Given the description of an element on the screen output the (x, y) to click on. 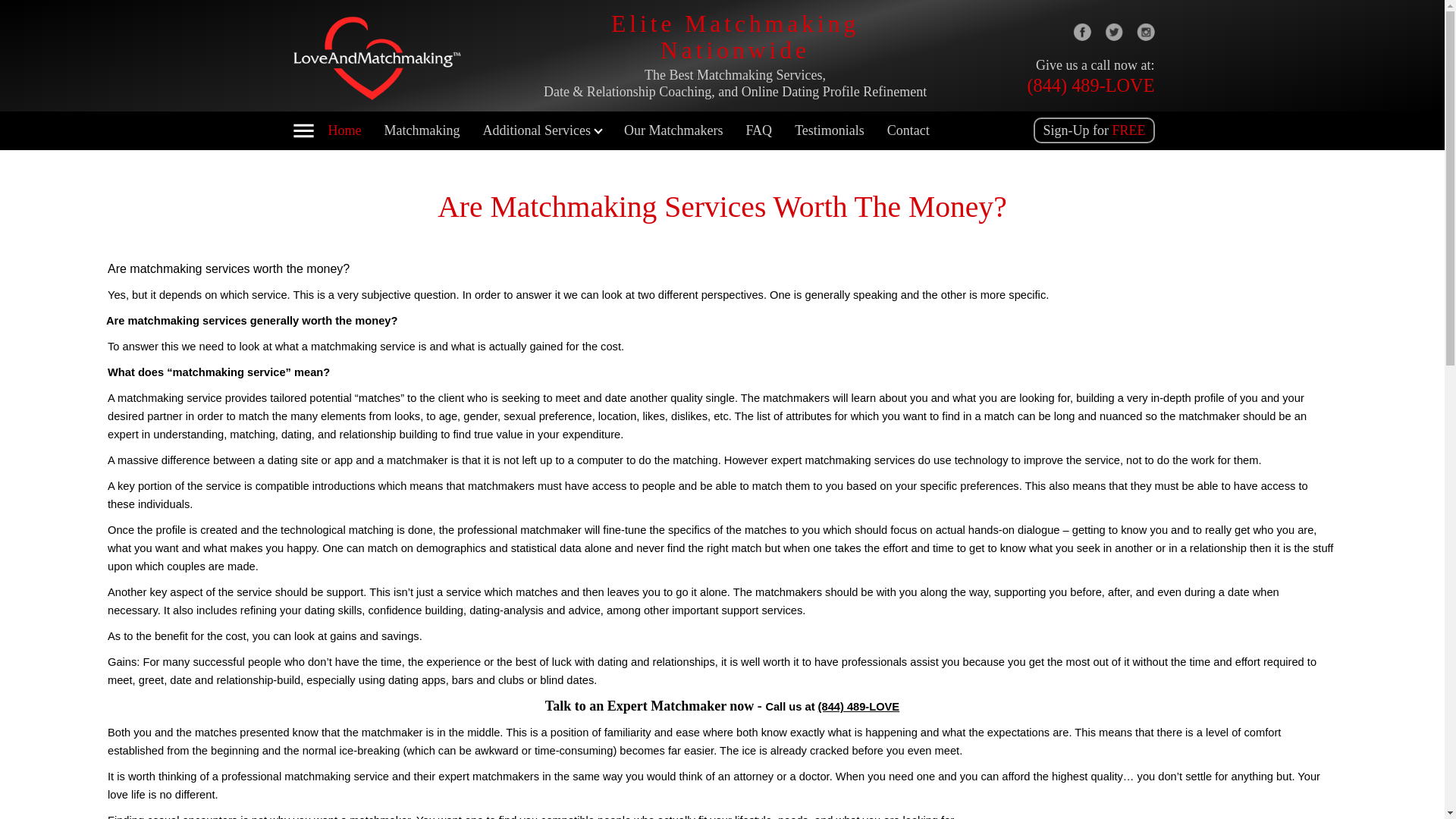
Our Matchmakers (672, 130)
Home (344, 130)
Sign-Up for FREE (1093, 130)
Testimonials (829, 130)
Matchmaking (421, 130)
FAQ (758, 130)
Additional Services (540, 130)
Contact (908, 130)
